Given the description of an element on the screen output the (x, y) to click on. 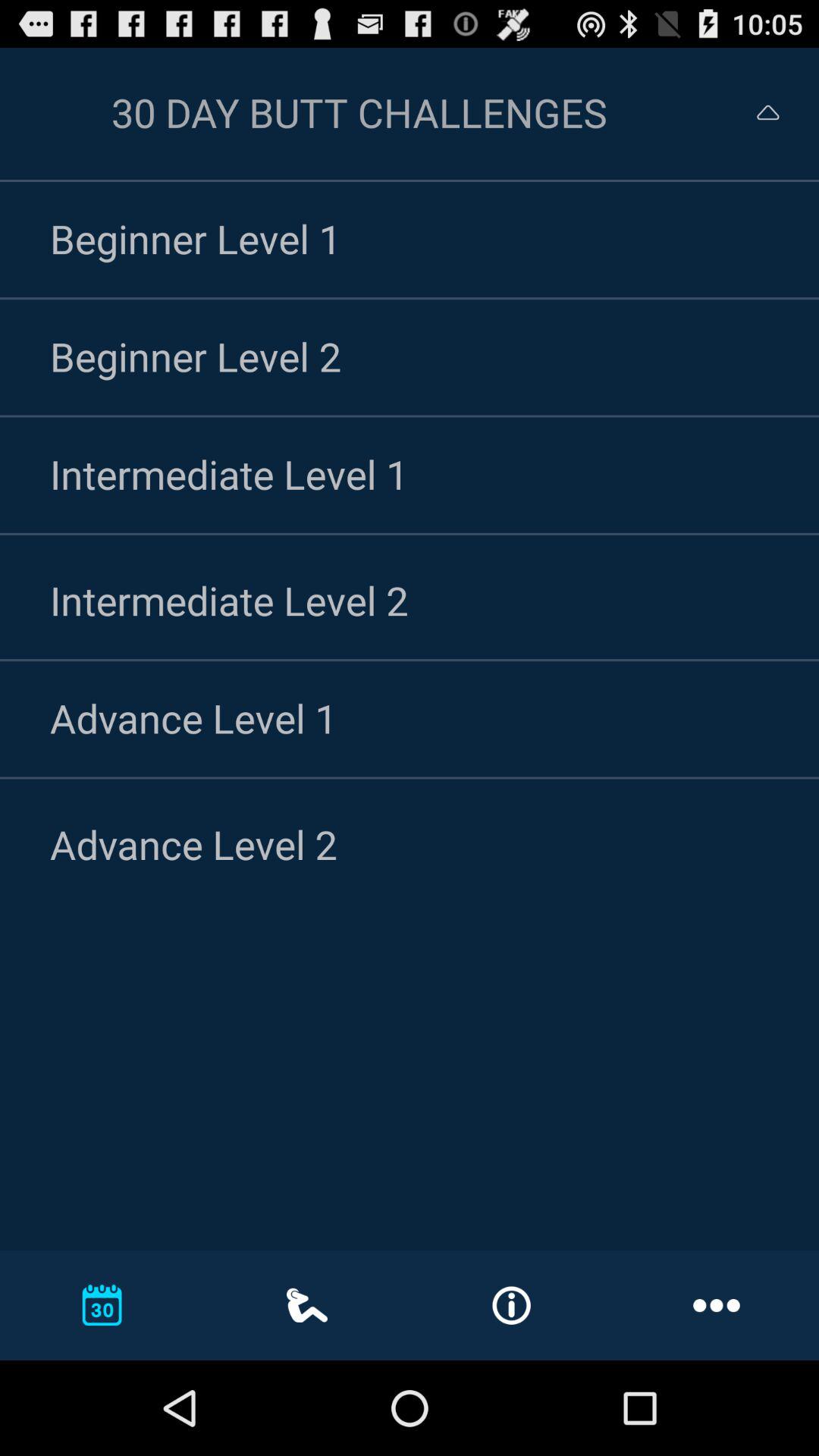
click expand option (754, 112)
